Given the description of an element on the screen output the (x, y) to click on. 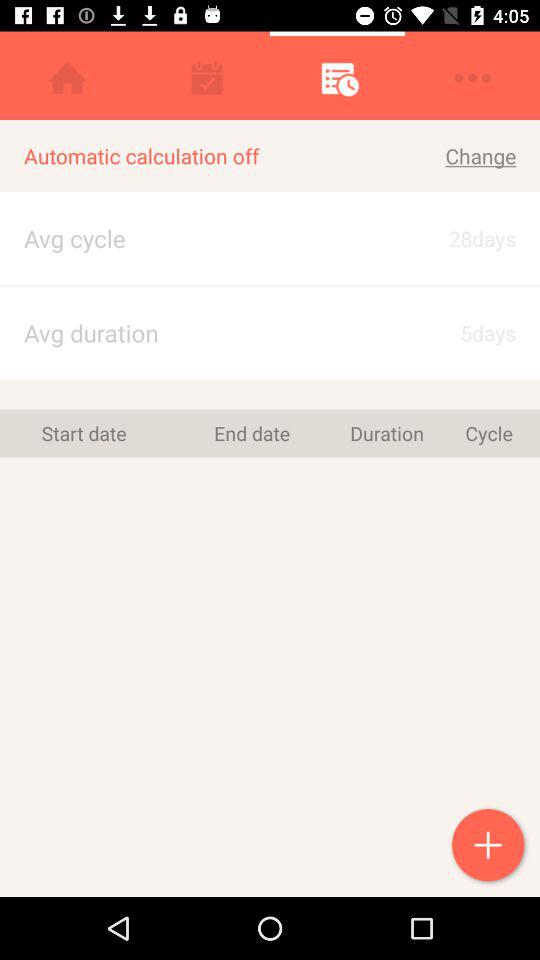
press the app to the left of end date (84, 433)
